Given the description of an element on the screen output the (x, y) to click on. 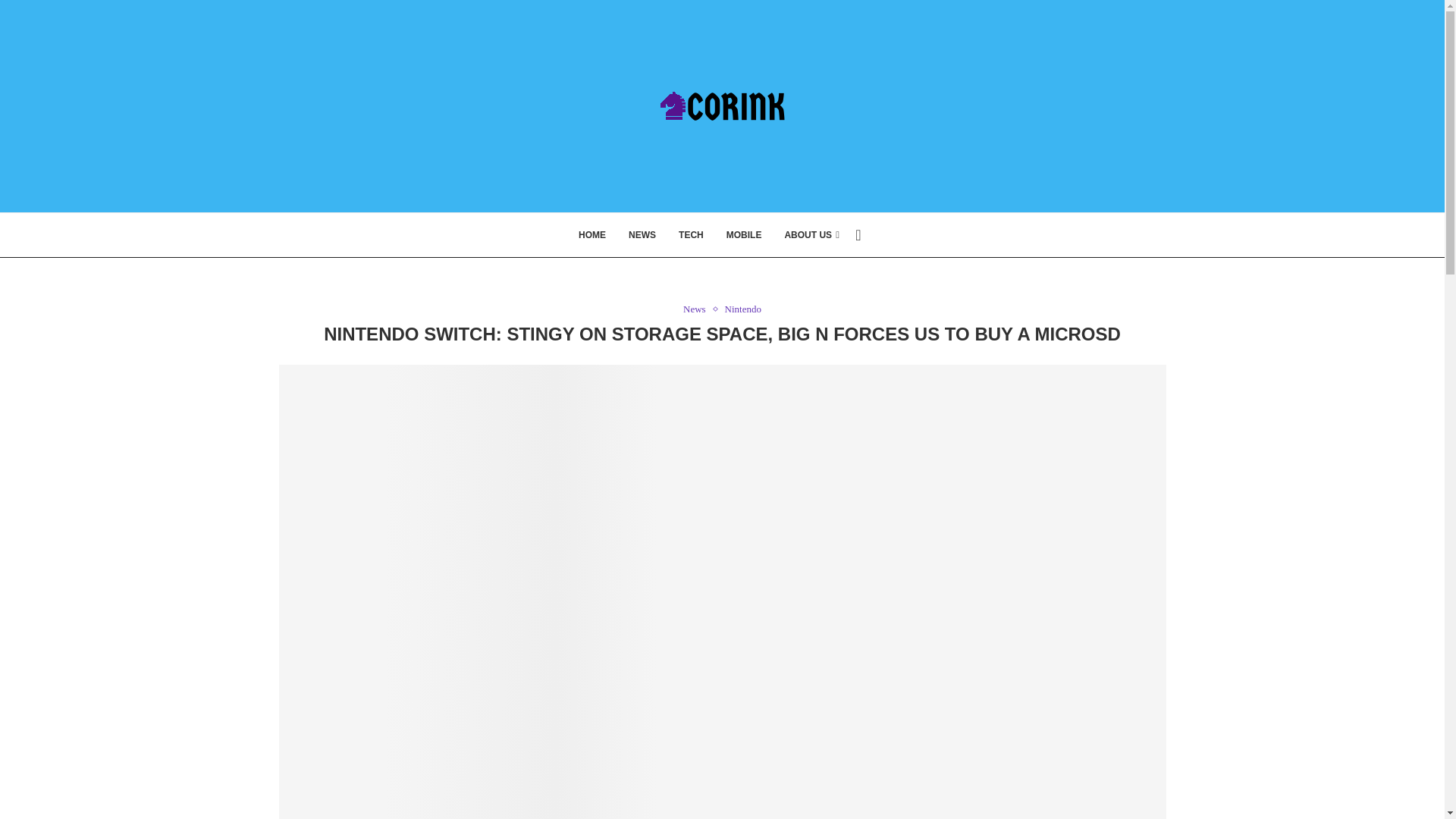
News (697, 309)
ABOUT US (811, 234)
Nintendo (743, 309)
